Given the description of an element on the screen output the (x, y) to click on. 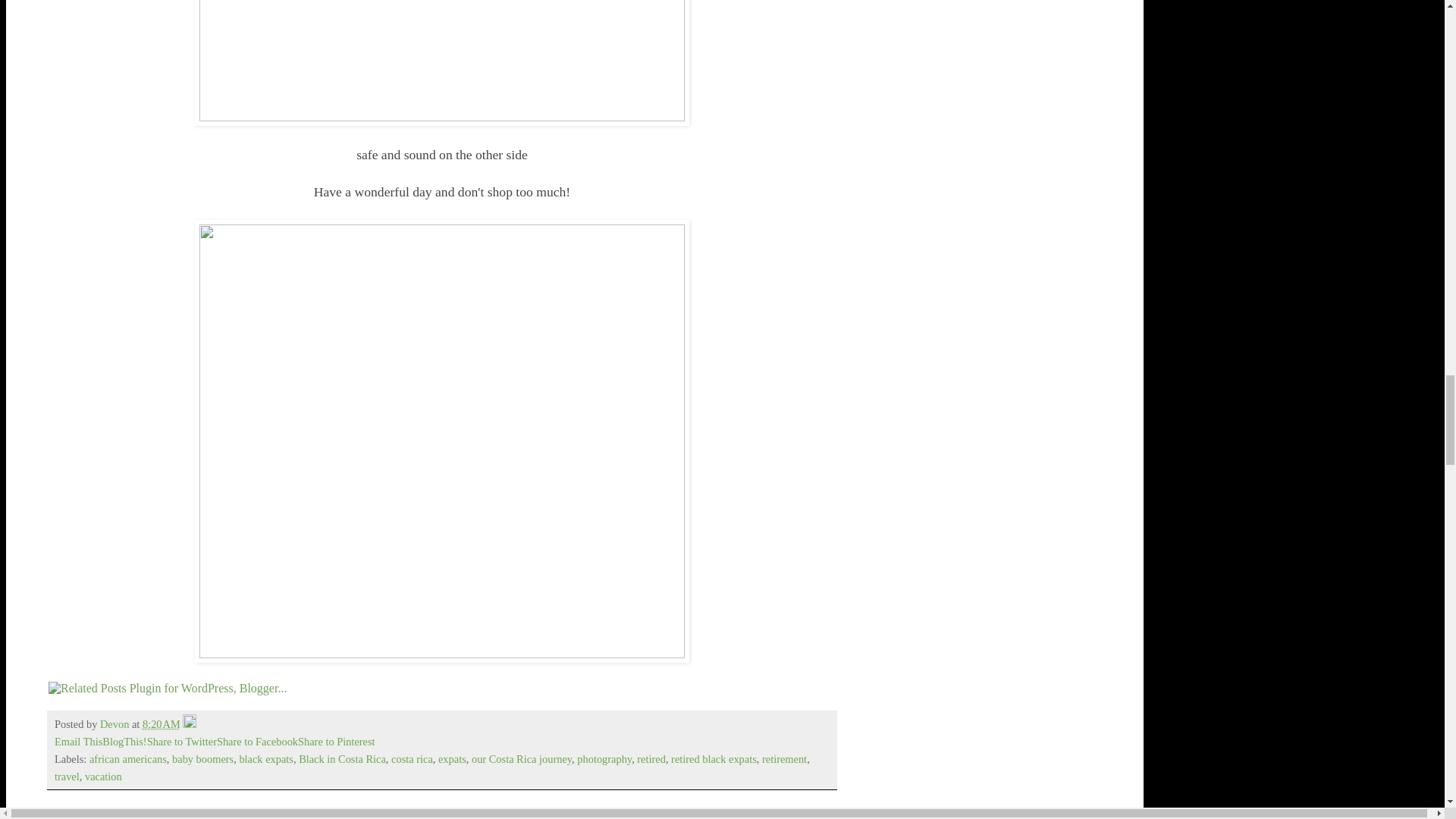
Email This (78, 741)
Black in Costa Rica (341, 758)
Edit Post (189, 724)
Share to Facebook (257, 741)
Share to Twitter (181, 741)
Devon (116, 724)
expats (451, 758)
retired black expats (714, 758)
BlogThis! (124, 741)
black expats (266, 758)
retired (651, 758)
Share to Twitter (181, 741)
permanent link (161, 724)
travel (67, 776)
